Given the description of an element on the screen output the (x, y) to click on. 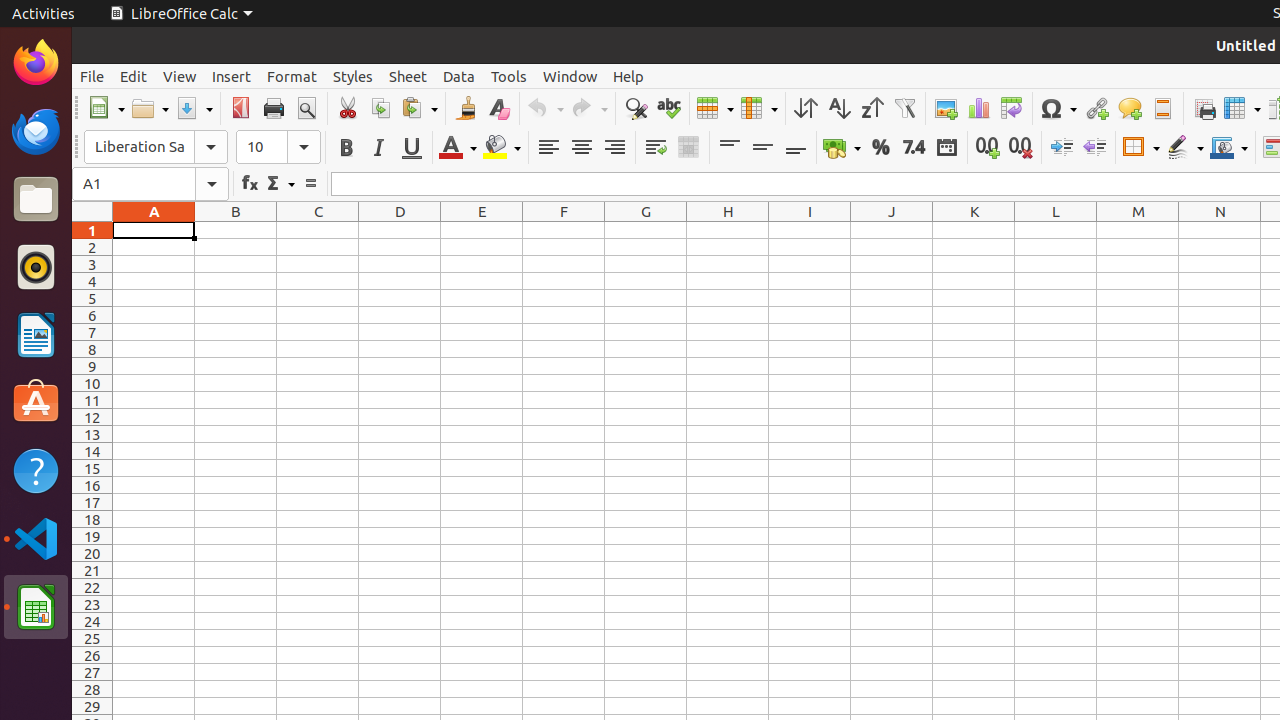
F1 Element type: table-cell (564, 230)
Cut Element type: push-button (347, 108)
AutoFilter Element type: push-button (904, 108)
D1 Element type: table-cell (400, 230)
Borders (Shift to overwrite) Element type: push-button (1141, 147)
